Given the description of an element on the screen output the (x, y) to click on. 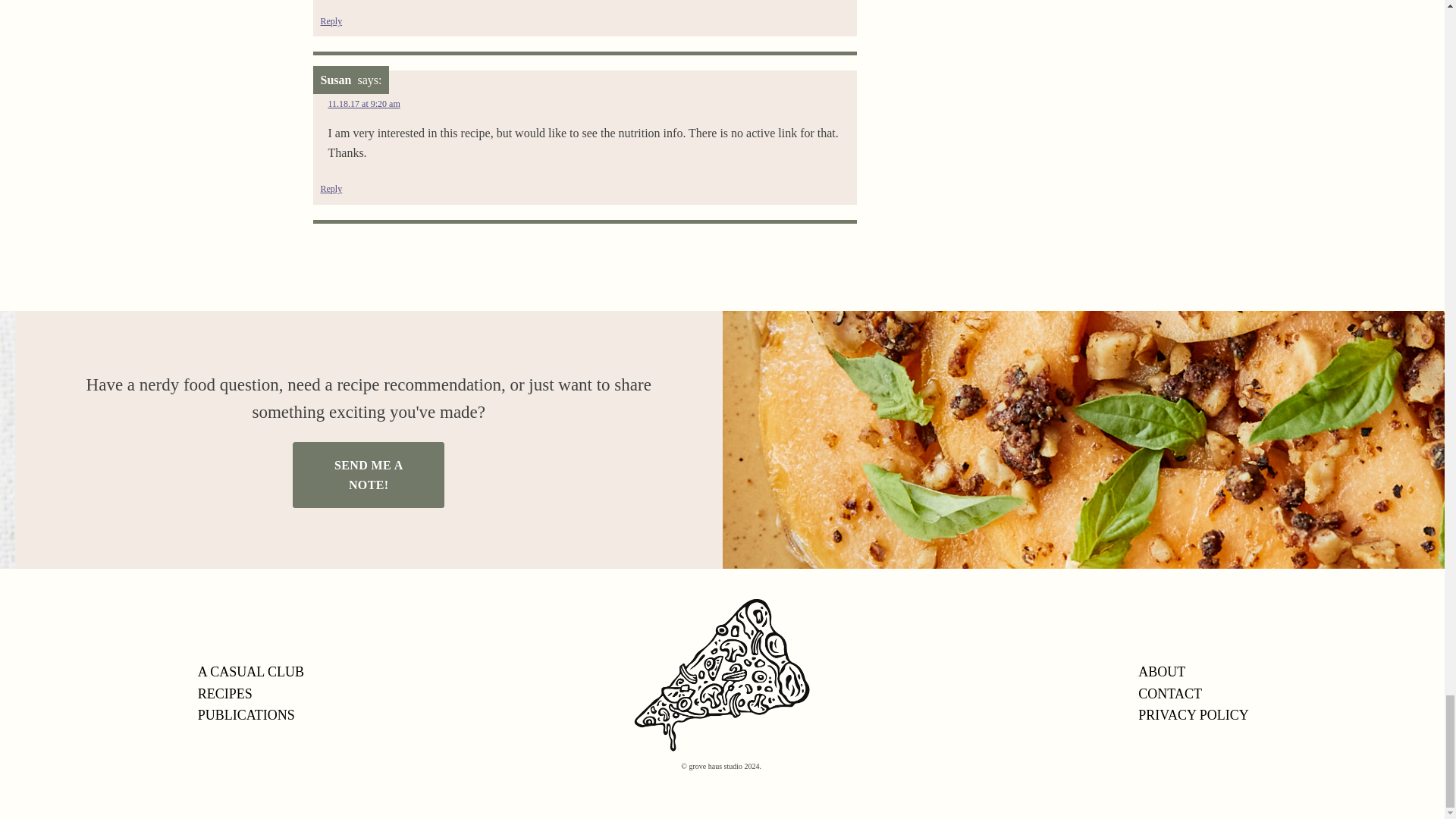
Reply (331, 21)
Reply (331, 188)
11.18.17 at 9:20 am (362, 103)
